Given the description of an element on the screen output the (x, y) to click on. 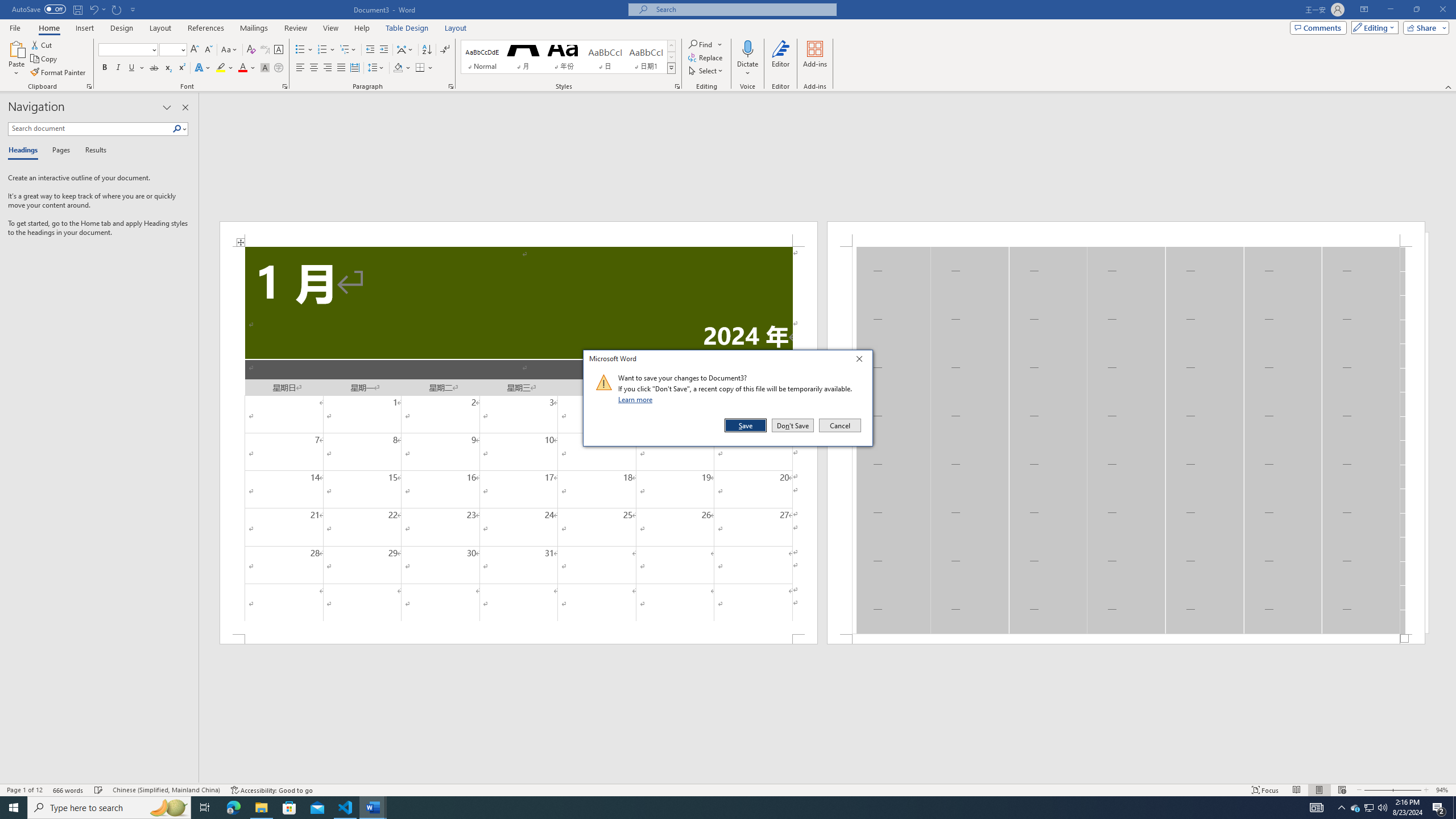
Type here to search (108, 807)
User Promoted Notification Area (1368, 807)
Undo Apply Quick Style (96, 9)
